Given the description of an element on the screen output the (x, y) to click on. 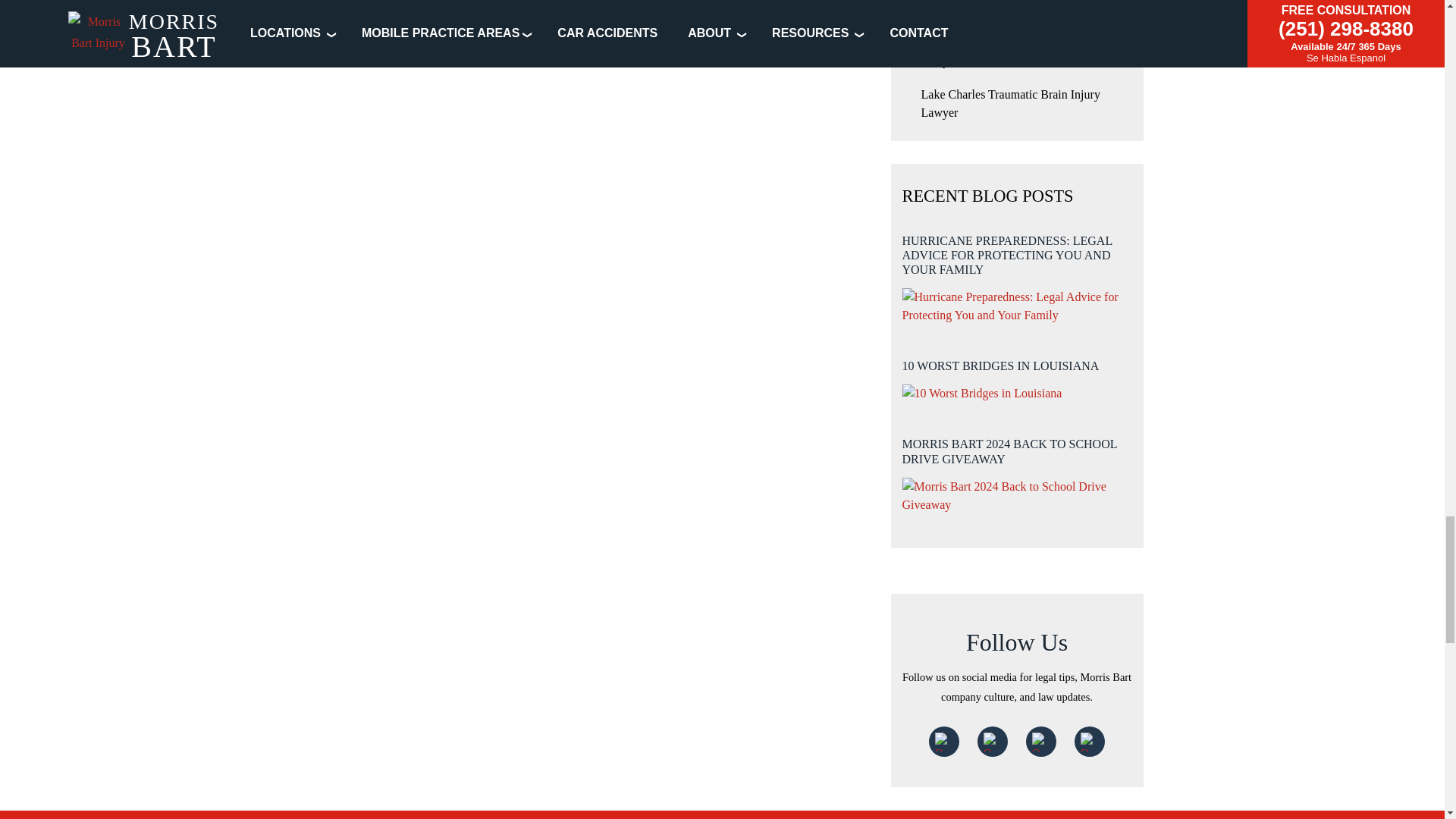
10 Worst Bridges in Louisiana (1017, 374)
10 Worst Bridges in Louisiana (982, 393)
Cruise Ship Accidents: Cruising for a Bruising (373, 2)
Morris Bart 2024 Back to School Drive Giveaway (1017, 469)
Morris Bart 2024 Back to School Drive Giveaway (1017, 495)
